Given the description of an element on the screen output the (x, y) to click on. 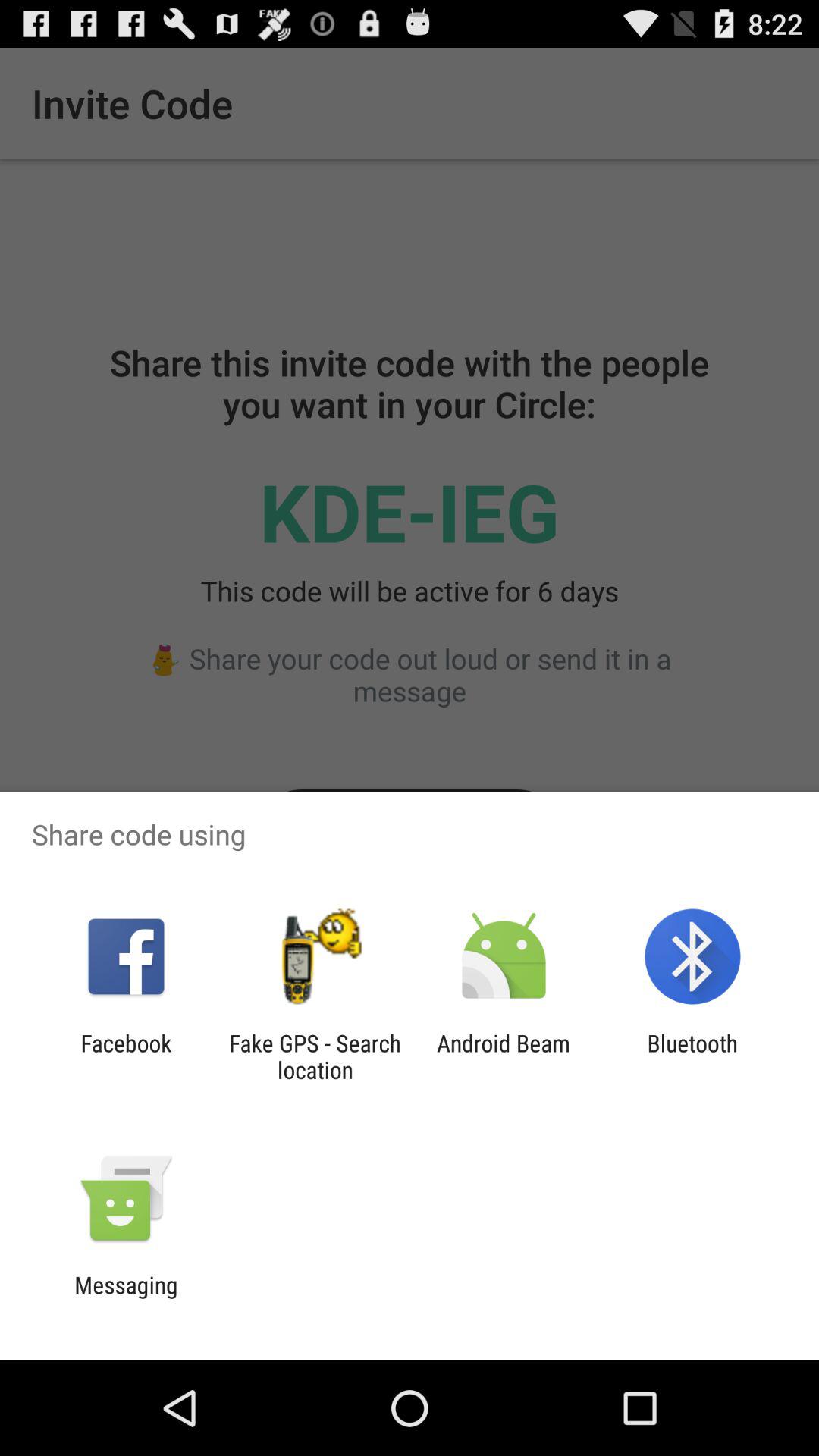
swipe to the fake gps search item (314, 1056)
